Given the description of an element on the screen output the (x, y) to click on. 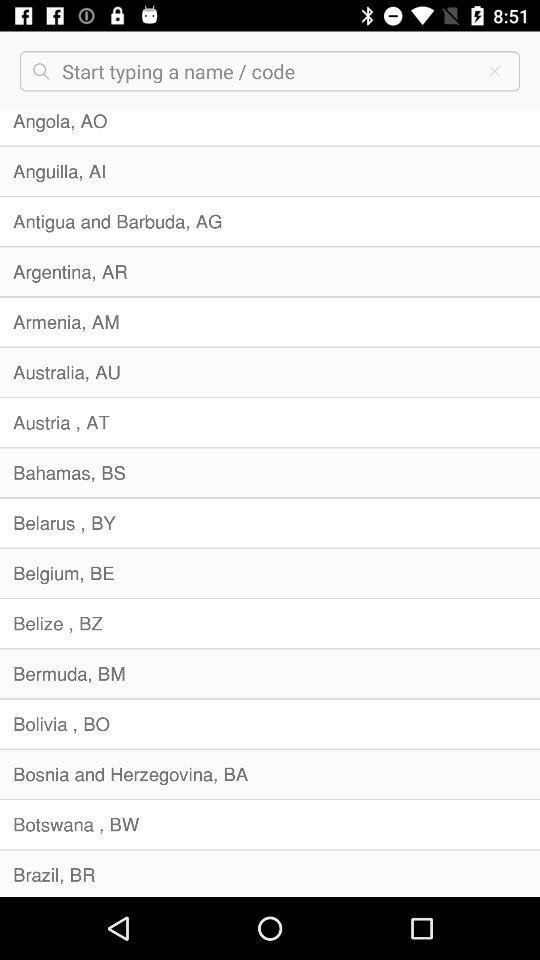
jump to the bahamas, bs icon (270, 472)
